Given the description of an element on the screen output the (x, y) to click on. 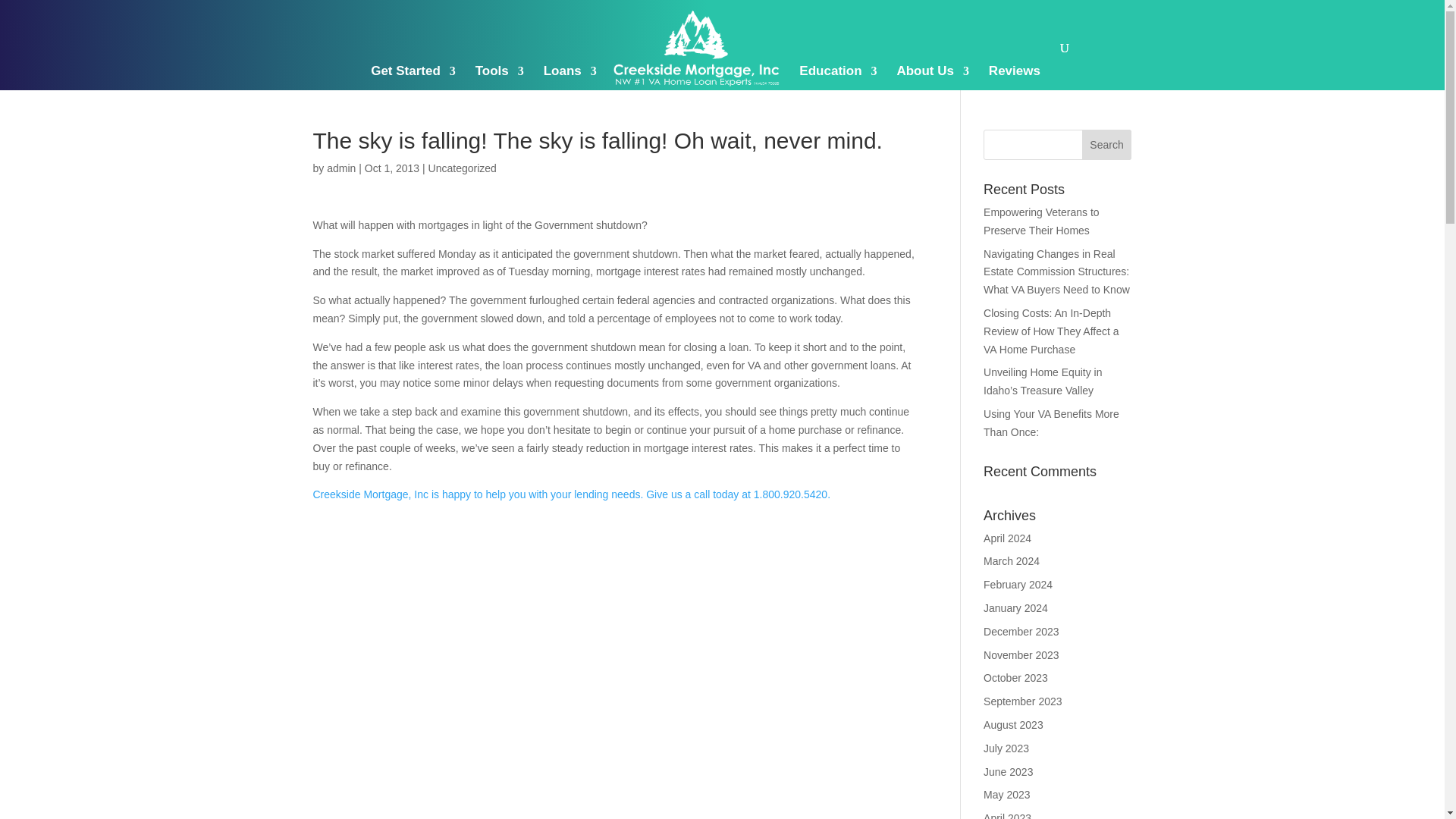
Posts by admin (340, 168)
Tools (500, 88)
Reviews (1014, 88)
Loans (569, 88)
Get Started (413, 88)
Education (837, 88)
Search (1106, 144)
About Us (932, 88)
